Given the description of an element on the screen output the (x, y) to click on. 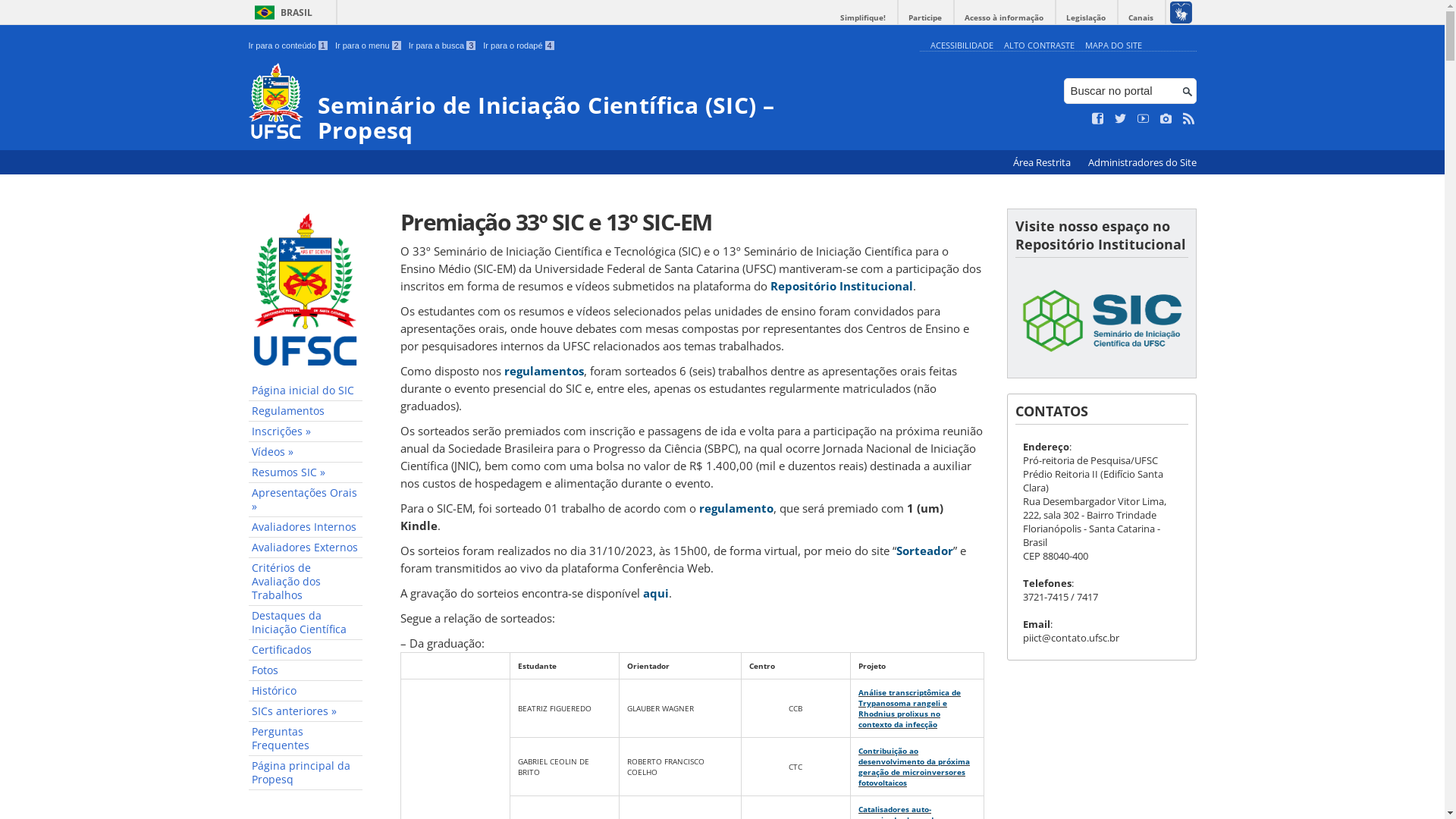
Curta no Facebook Element type: hover (1098, 118)
Simplifique! Element type: text (862, 18)
Perguntas Frequentes Element type: text (305, 738)
Participe Element type: text (924, 18)
Regulamentos Element type: text (305, 411)
Ir para a busca 3 Element type: text (442, 45)
Veja no Instagram Element type: hover (1166, 118)
ALTO CONTRASTE Element type: text (1039, 44)
Canais Element type: text (1140, 18)
Ir para o menu 2 Element type: text (368, 45)
Sorteador Element type: text (924, 550)
regulamentos Element type: text (543, 370)
Certificados Element type: text (305, 650)
MAPA DO SITE Element type: text (1112, 44)
Administradores do Site Element type: text (1141, 162)
Avaliadores Externos Element type: text (305, 547)
aqui Element type: text (655, 592)
Avaliadores Internos Element type: text (305, 527)
BRASIL Element type: text (280, 12)
Fotos Element type: text (305, 670)
Siga no Twitter Element type: hover (1120, 118)
regulamento Element type: text (736, 507)
ACESSIBILIDADE Element type: text (960, 44)
